Given the description of an element on the screen output the (x, y) to click on. 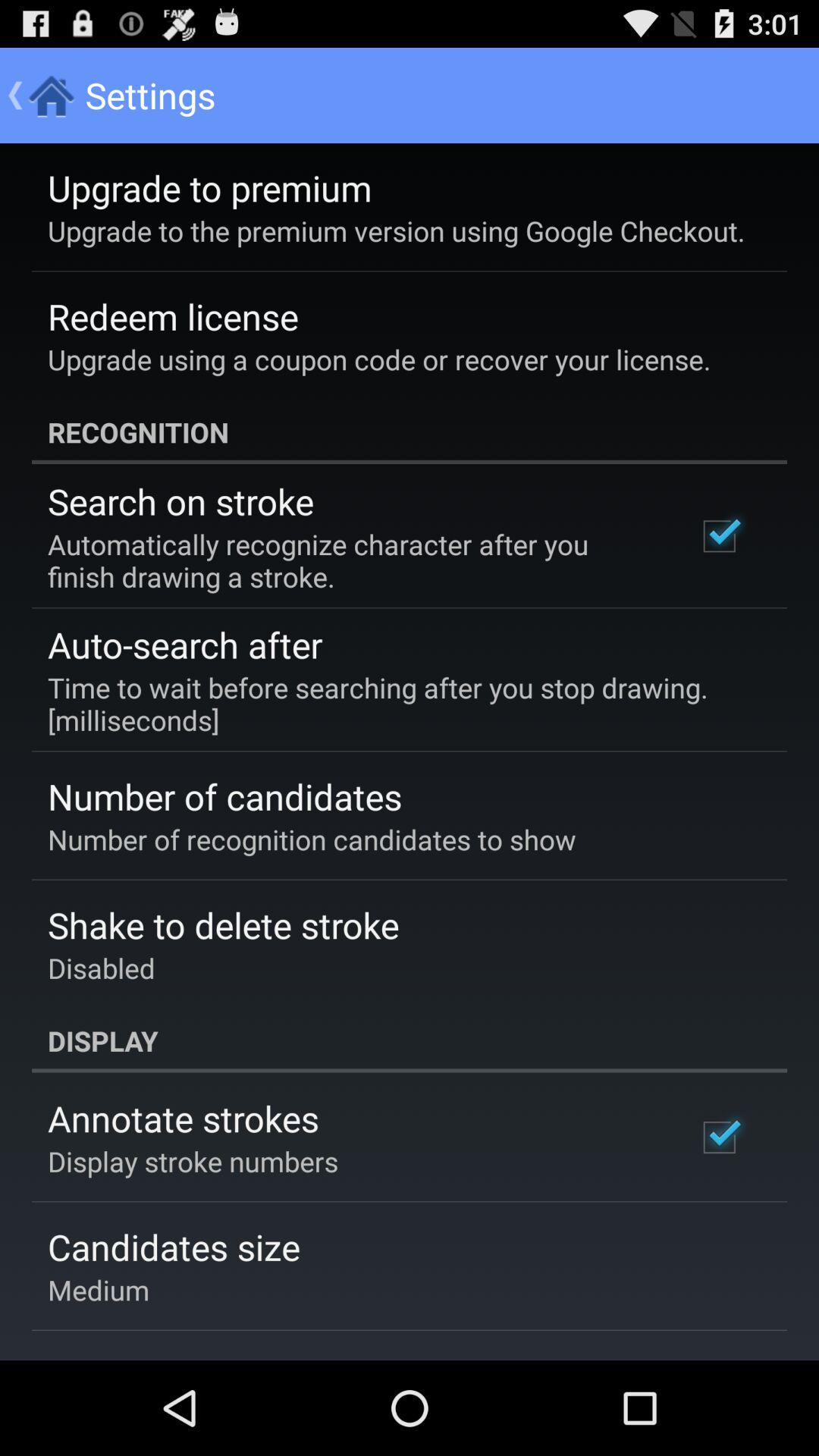
tap the app above medium icon (173, 1246)
